Given the description of an element on the screen output the (x, y) to click on. 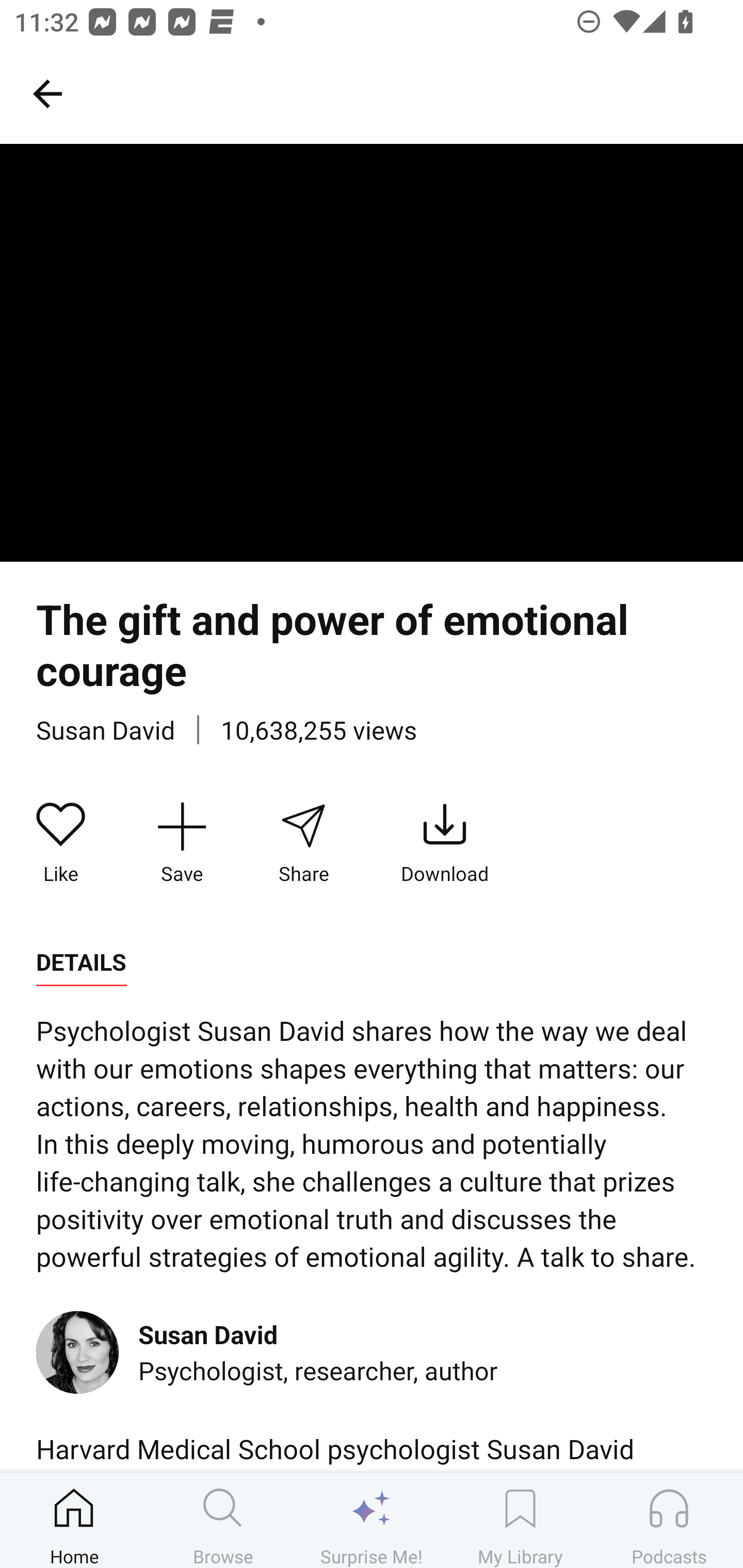
Home, back (47, 92)
Like (60, 843)
Save (181, 843)
Share (302, 843)
Download (444, 843)
DETAILS (80, 962)
Home (74, 1520)
Browse (222, 1520)
Surprise Me! (371, 1520)
My Library (519, 1520)
Podcasts (668, 1520)
